Given the description of an element on the screen output the (x, y) to click on. 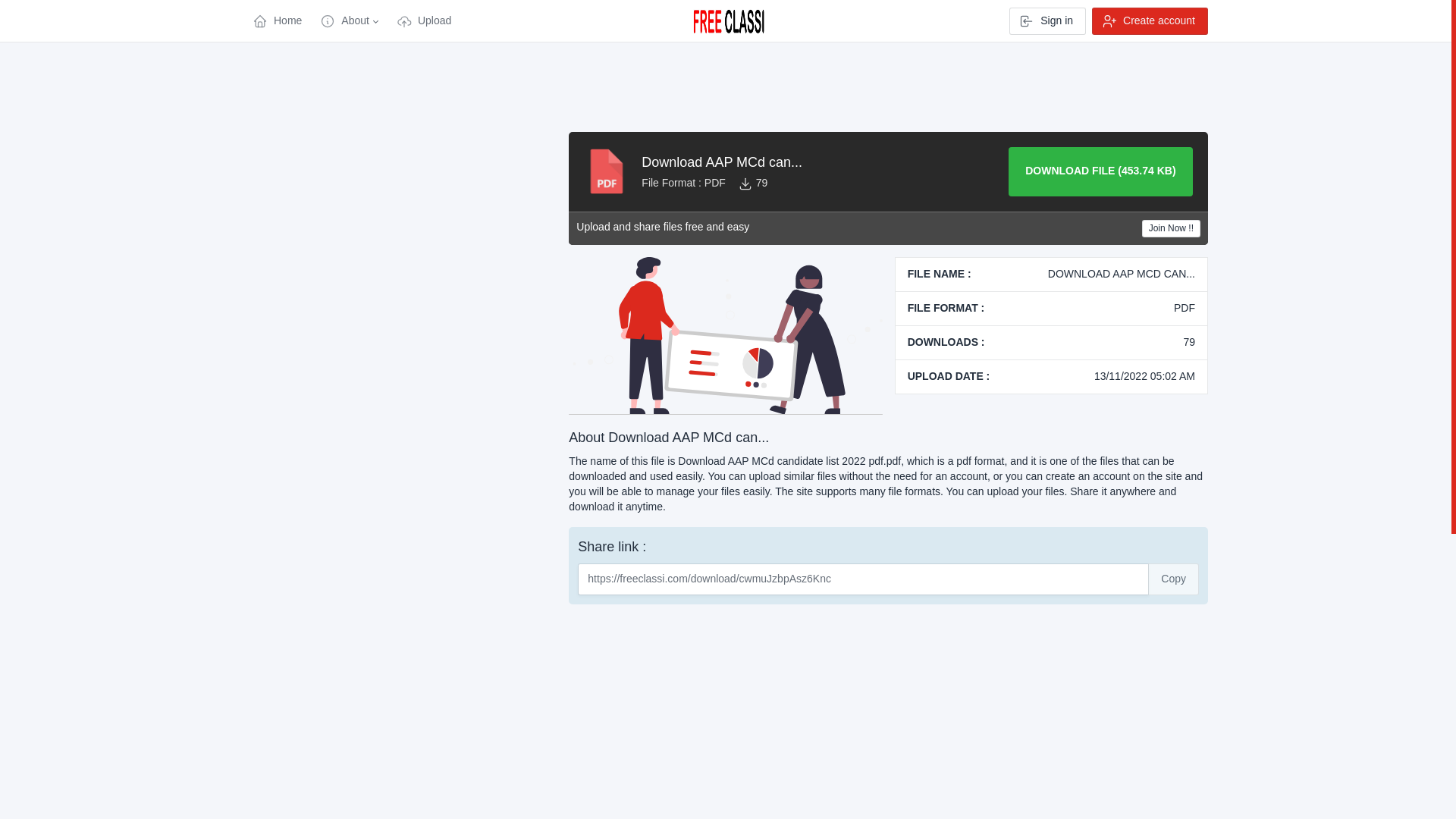
Advertisement (399, 710)
Home (277, 21)
Copy (1173, 579)
Create account (1150, 21)
About (349, 21)
Advertisement (399, 359)
Upload (423, 21)
Sign in (1047, 21)
Join Now !! (1170, 228)
